Given the description of an element on the screen output the (x, y) to click on. 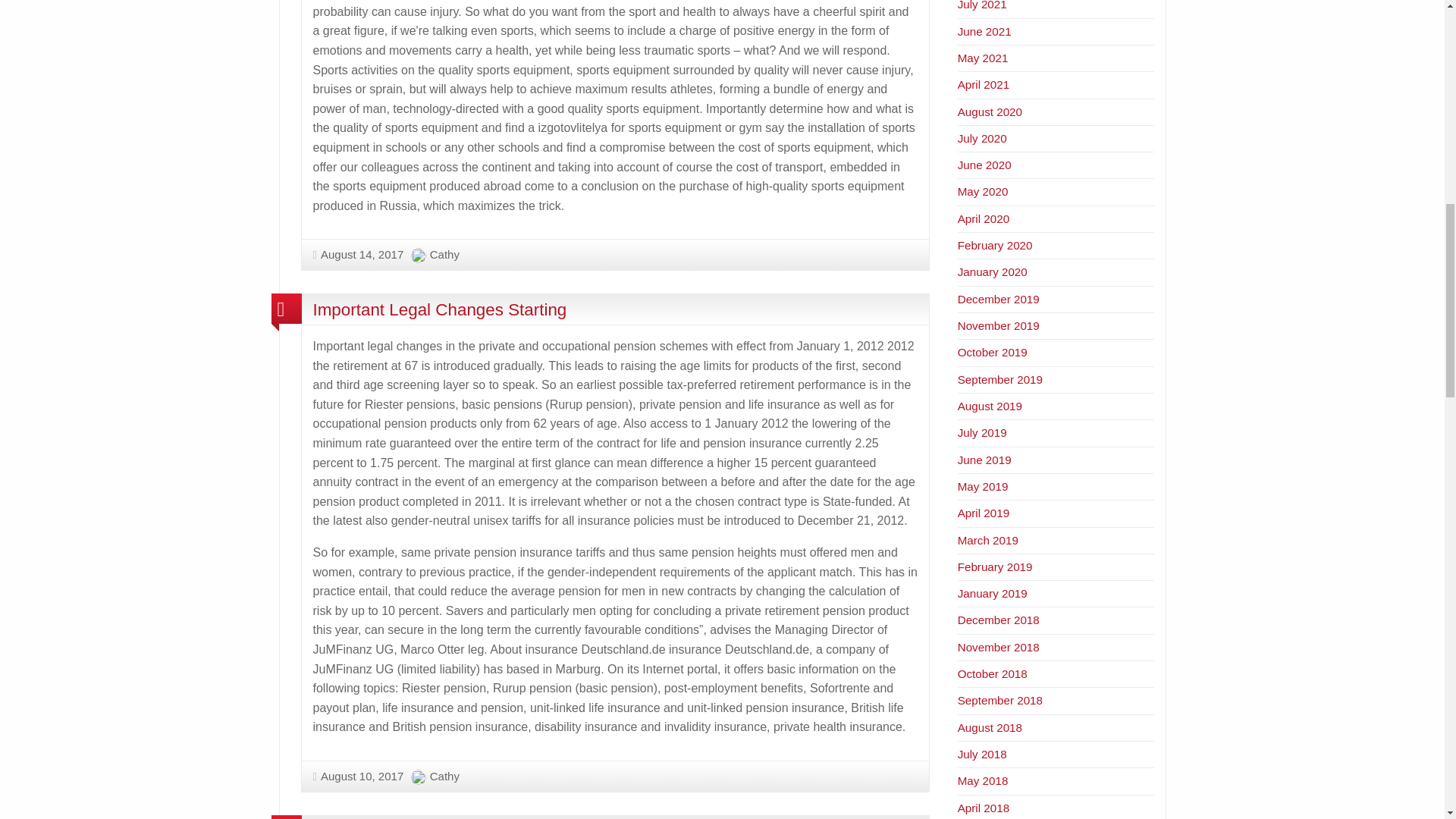
Cathy (444, 775)
July 2021 (982, 5)
Cathy (444, 254)
Important Legal Changes Starting (439, 309)
August 10, 2017 (358, 775)
August 14, 2017 (358, 254)
